Given the description of an element on the screen output the (x, y) to click on. 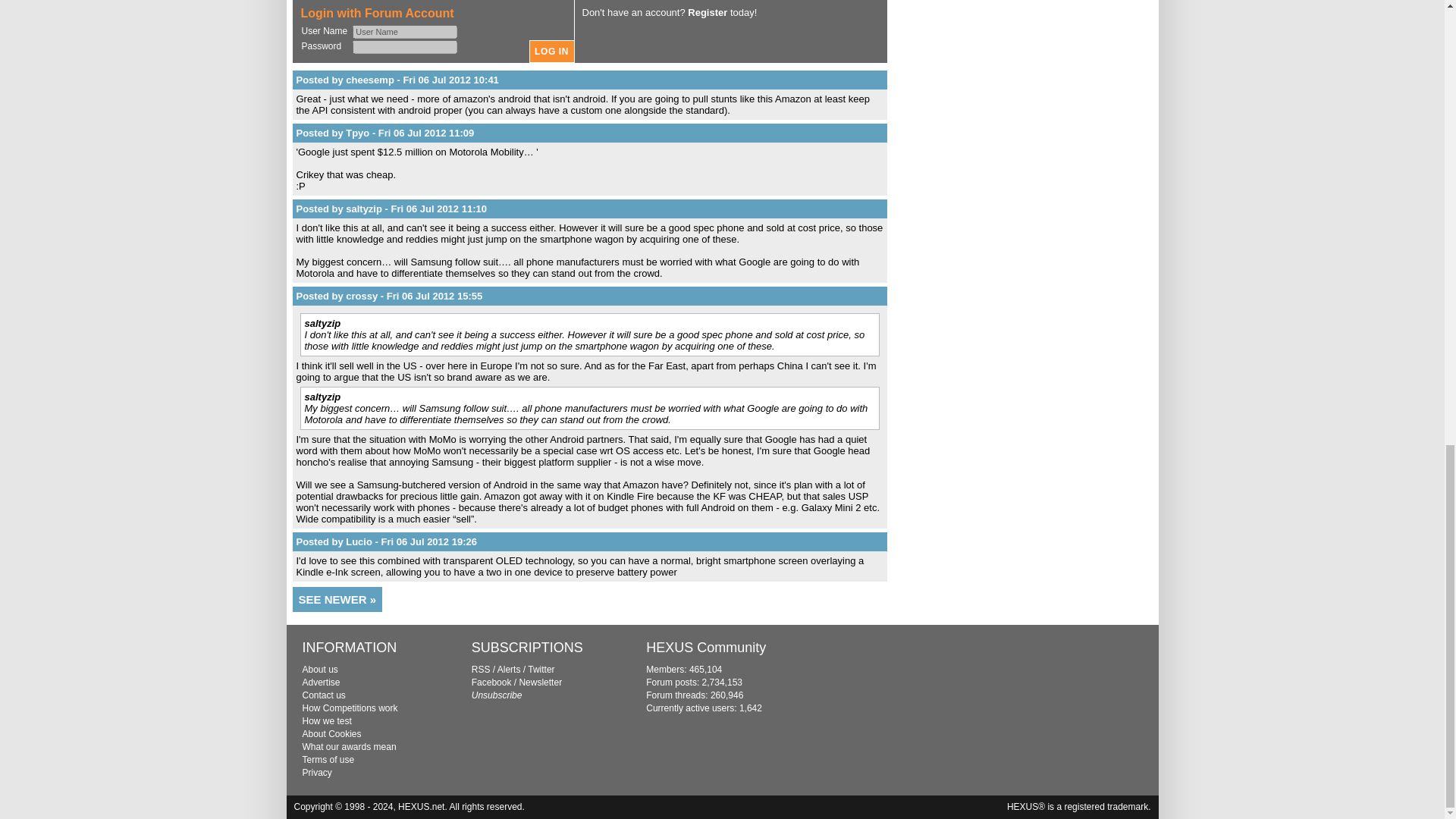
Log in (552, 51)
User Name (404, 31)
